Given the description of an element on the screen output the (x, y) to click on. 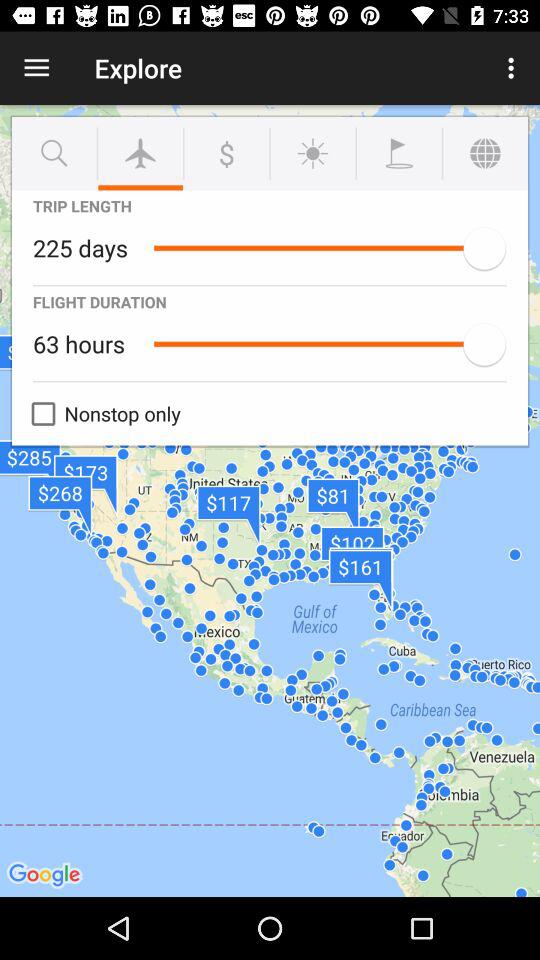
flip until nonstop only icon (101, 414)
